Given the description of an element on the screen output the (x, y) to click on. 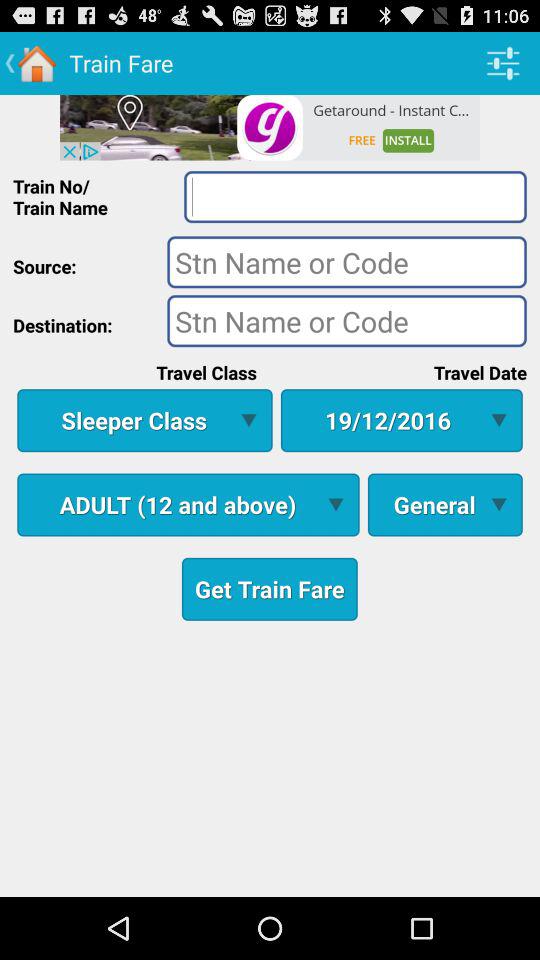
enter name or code (346, 261)
